Given the description of an element on the screen output the (x, y) to click on. 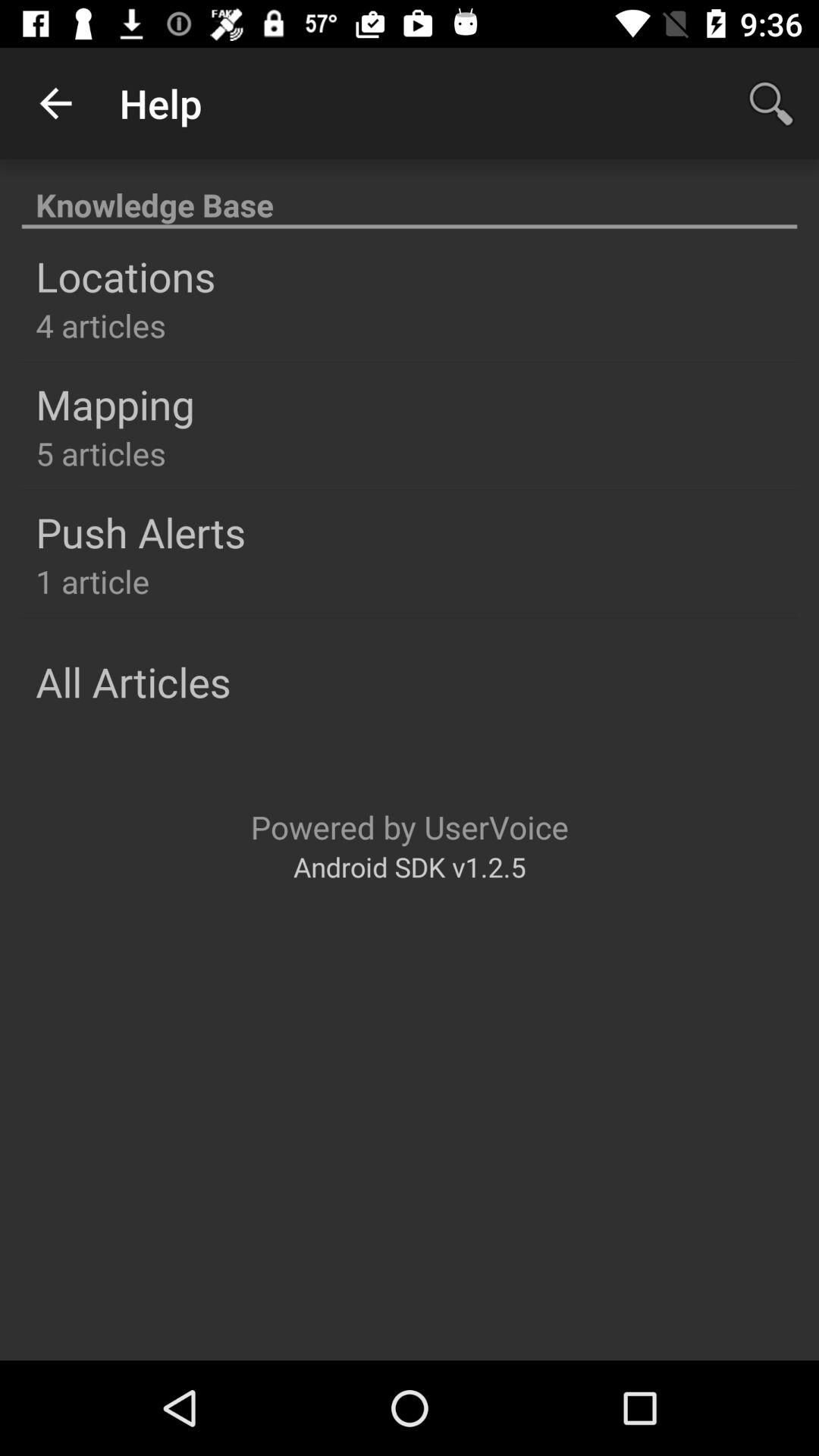
tap icon above the android sdk v1 item (409, 826)
